Given the description of an element on the screen output the (x, y) to click on. 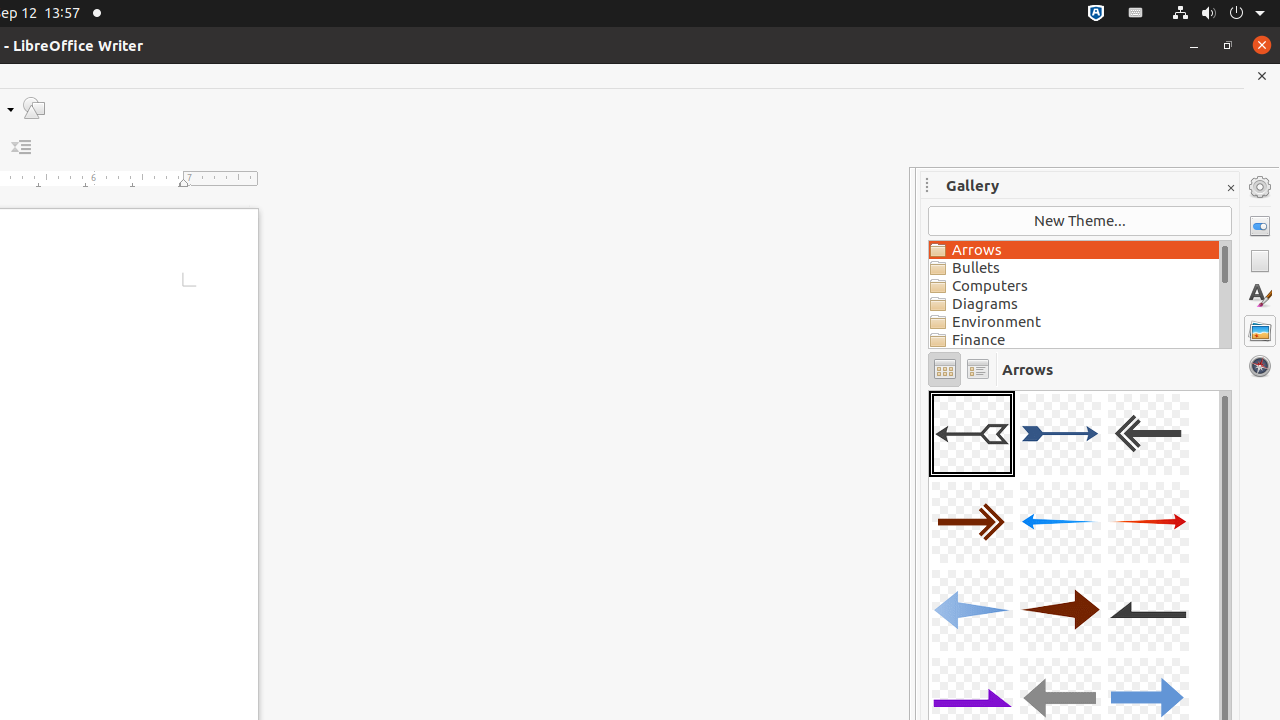
New Theme Element type: push-button (1080, 221)
A04-Arrow-DarkRed-Right Element type: list-item (972, 522)
A09-Arrow-Gray-Left Element type: list-item (1148, 610)
Arrows Element type: list-item (1074, 249)
:1.72/StatusNotifierItem Element type: menu (1096, 13)
